Given the description of an element on the screen output the (x, y) to click on. 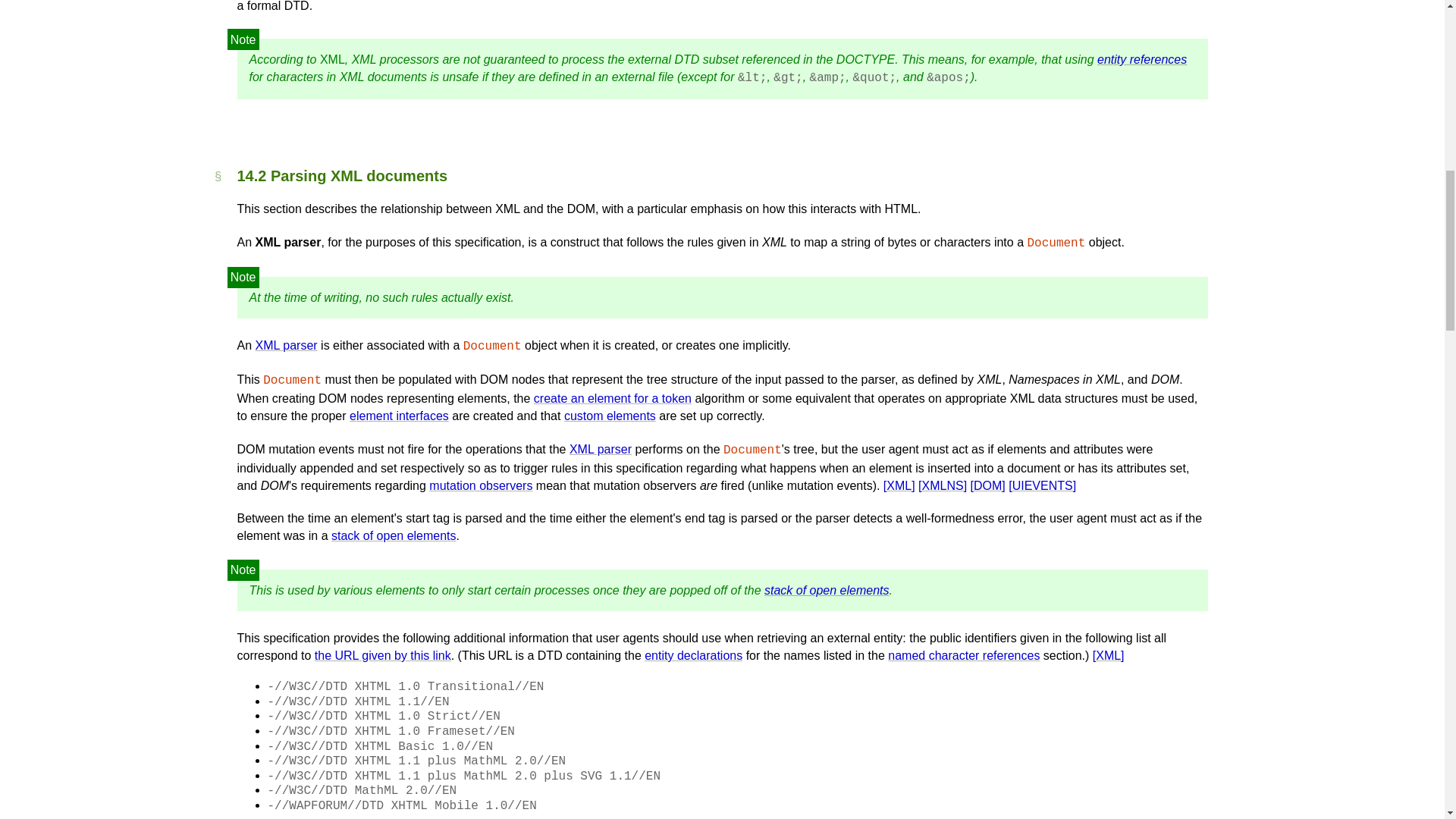
custom elements (610, 415)
create an element for a token (612, 398)
the URL given by this link (382, 655)
entity declarations (693, 655)
Document (752, 450)
XML parser (286, 345)
Document (492, 345)
XML parser (600, 449)
element interfaces (398, 415)
Document (292, 380)
mutation observers (480, 485)
stack of open elements (394, 535)
stack of open elements (826, 590)
